Given the description of an element on the screen output the (x, y) to click on. 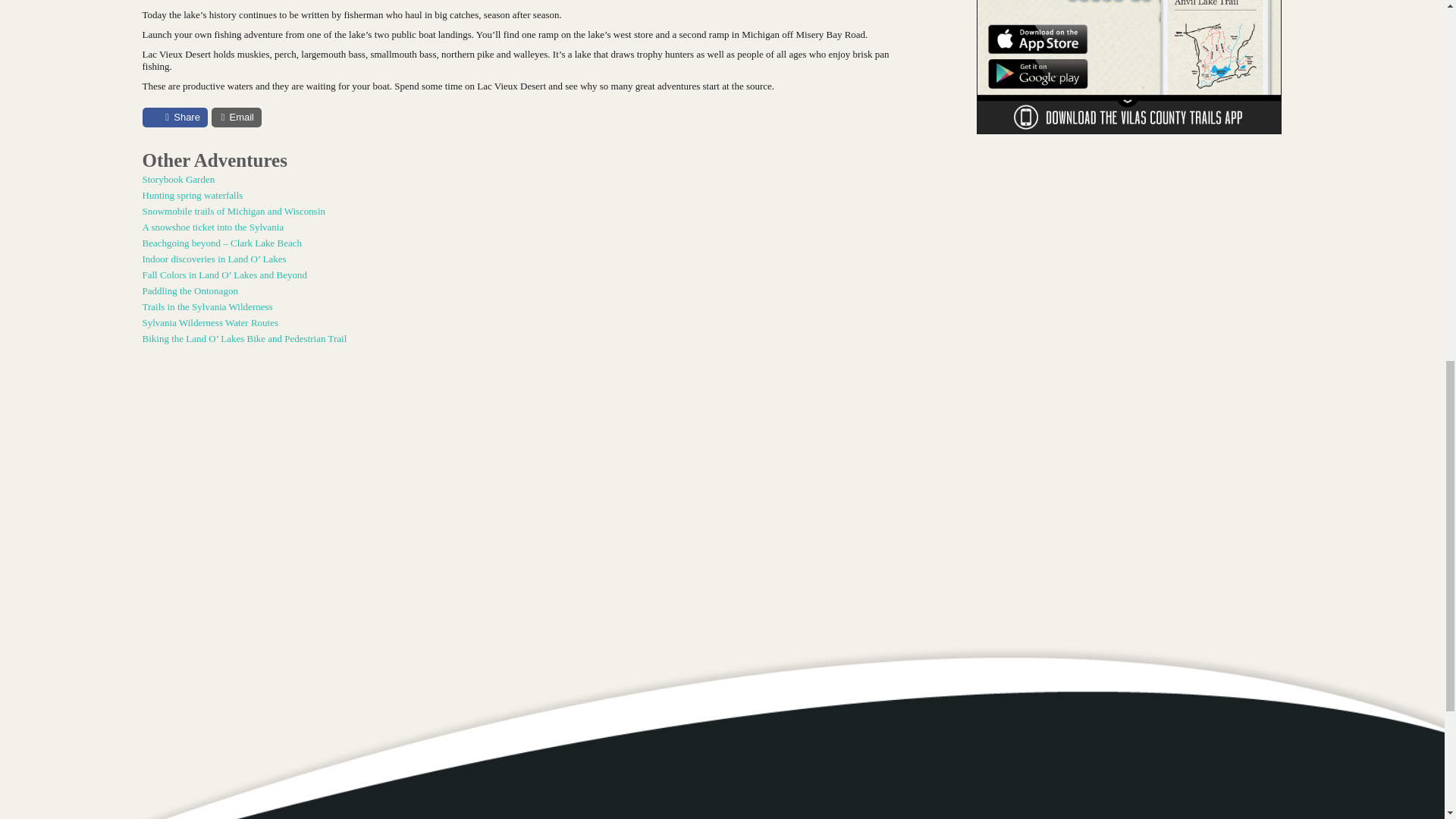
Paddling the Ontonagon (519, 291)
Hunting spring waterfalls (519, 195)
Sylvania Wilderness Water Routes (519, 322)
A snowshoe ticket into the Sylvania (519, 227)
Storybook Garden (519, 178)
Trails in the Sylvania Wilderness (519, 306)
Vilas County Trails App (1128, 68)
Snowmobile trails of Michigan and Wisconsin (519, 210)
